Given the description of an element on the screen output the (x, y) to click on. 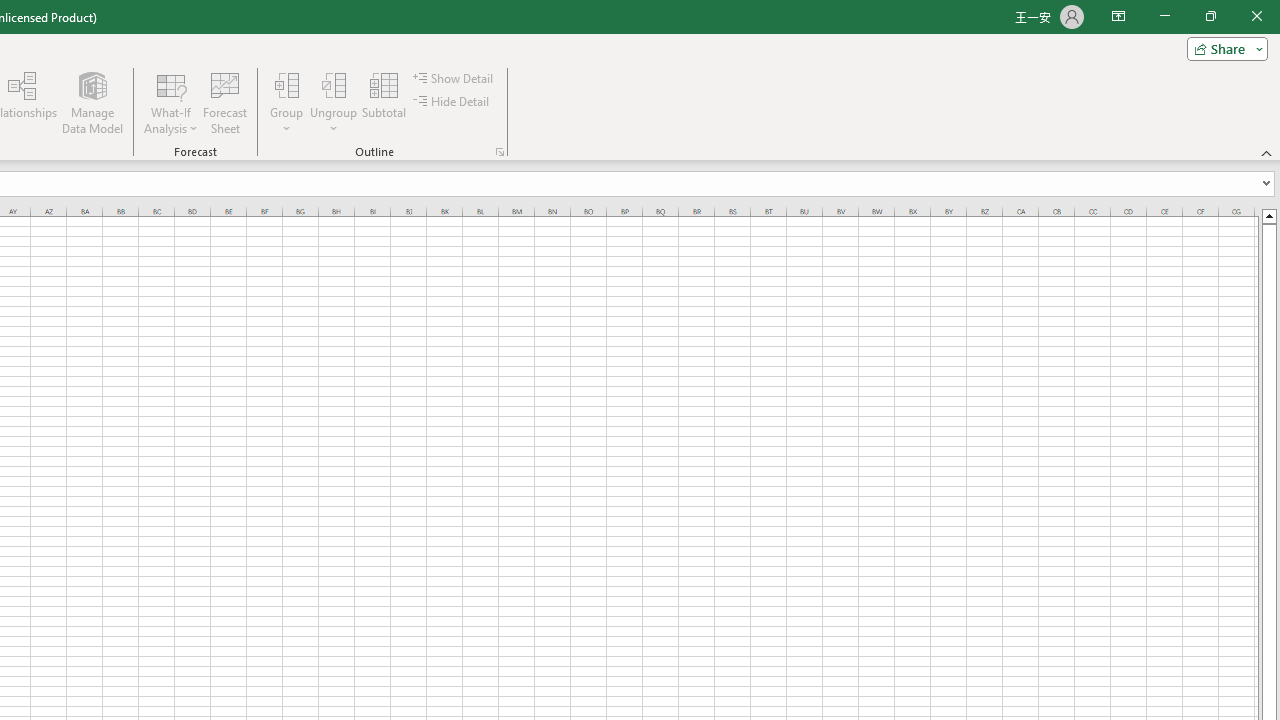
What-If Analysis (171, 102)
Group and Outline Settings (499, 151)
Hide Detail (452, 101)
Subtotal (384, 102)
Show Detail (454, 78)
